Given the description of an element on the screen output the (x, y) to click on. 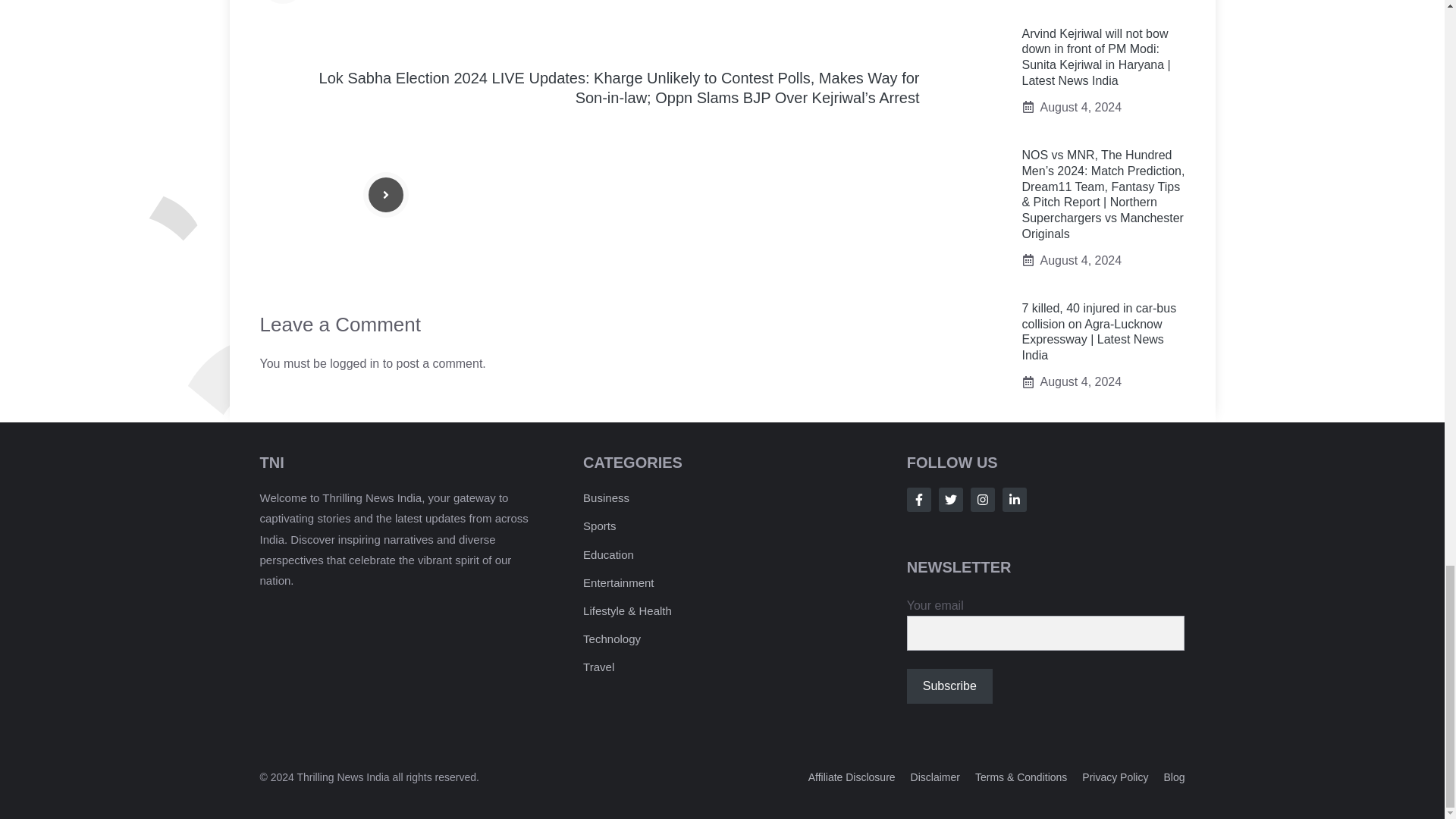
Education (608, 554)
Entertainment (618, 582)
Travel (598, 666)
Business (605, 497)
logged in (354, 363)
Subscribe (949, 686)
Technology (611, 638)
Sports (599, 525)
